Given the description of an element on the screen output the (x, y) to click on. 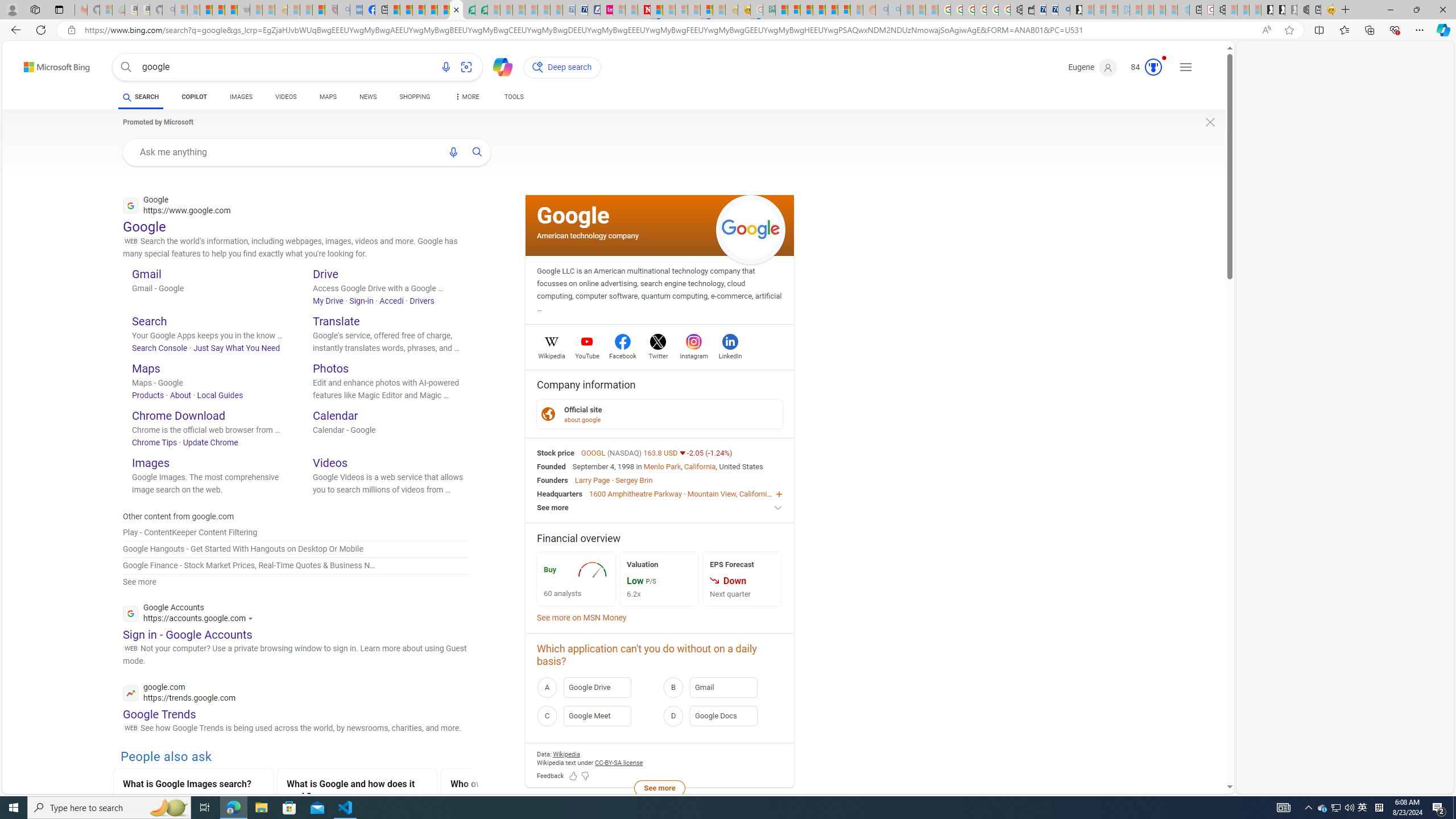
Back to Bing search (50, 64)
google.com (178, 693)
AutomationID: recImg (593, 569)
Accedi (391, 300)
B Gmail (722, 687)
